Given the description of an element on the screen output the (x, y) to click on. 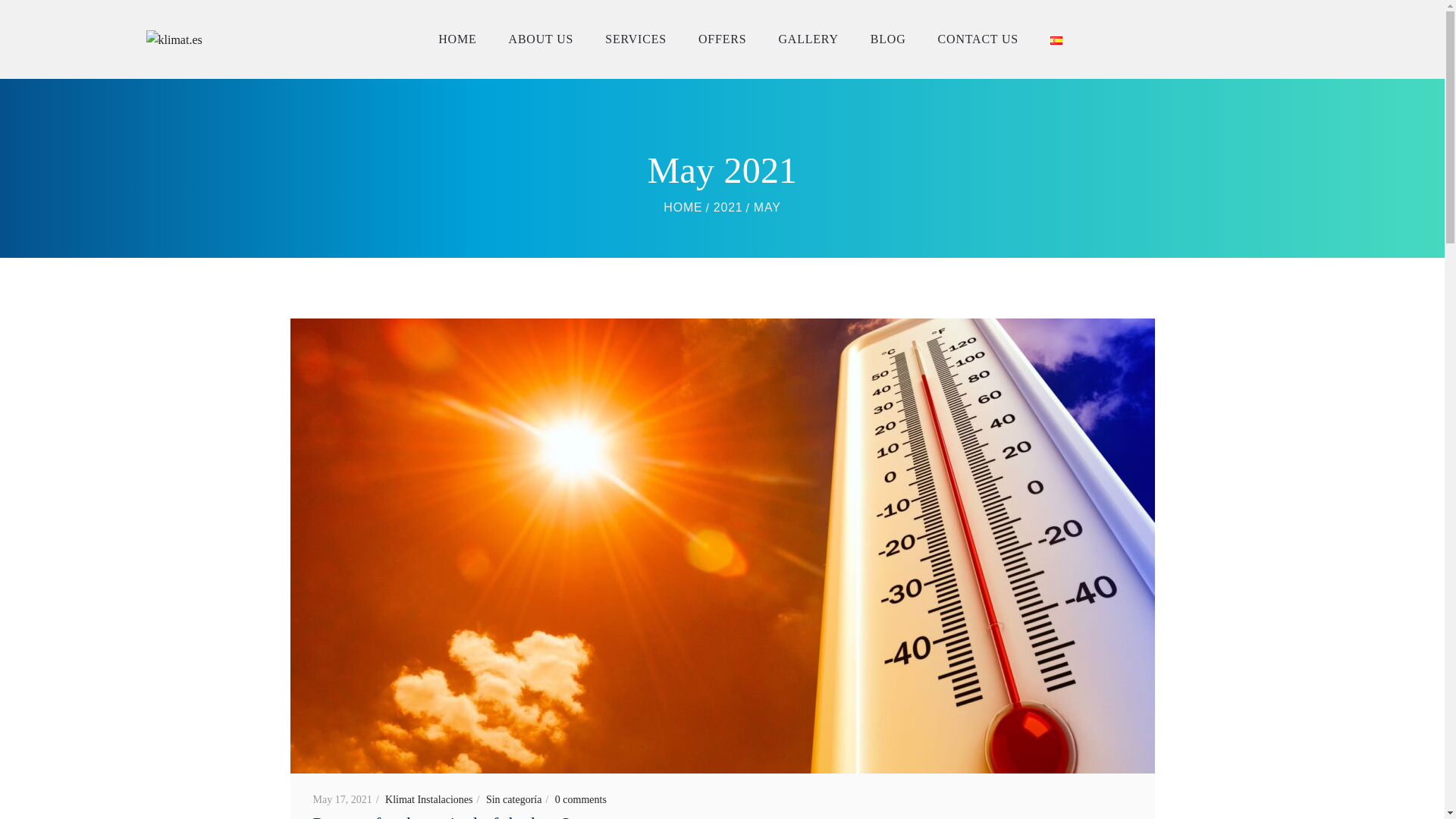
2021 (727, 206)
CONTACT US (978, 39)
SERVICES (635, 39)
HOME (457, 39)
0 comments (580, 799)
Klimat Instalaciones (434, 799)
ABOUT US (541, 39)
klimat.es (682, 206)
BLOG (888, 39)
